Given the description of an element on the screen output the (x, y) to click on. 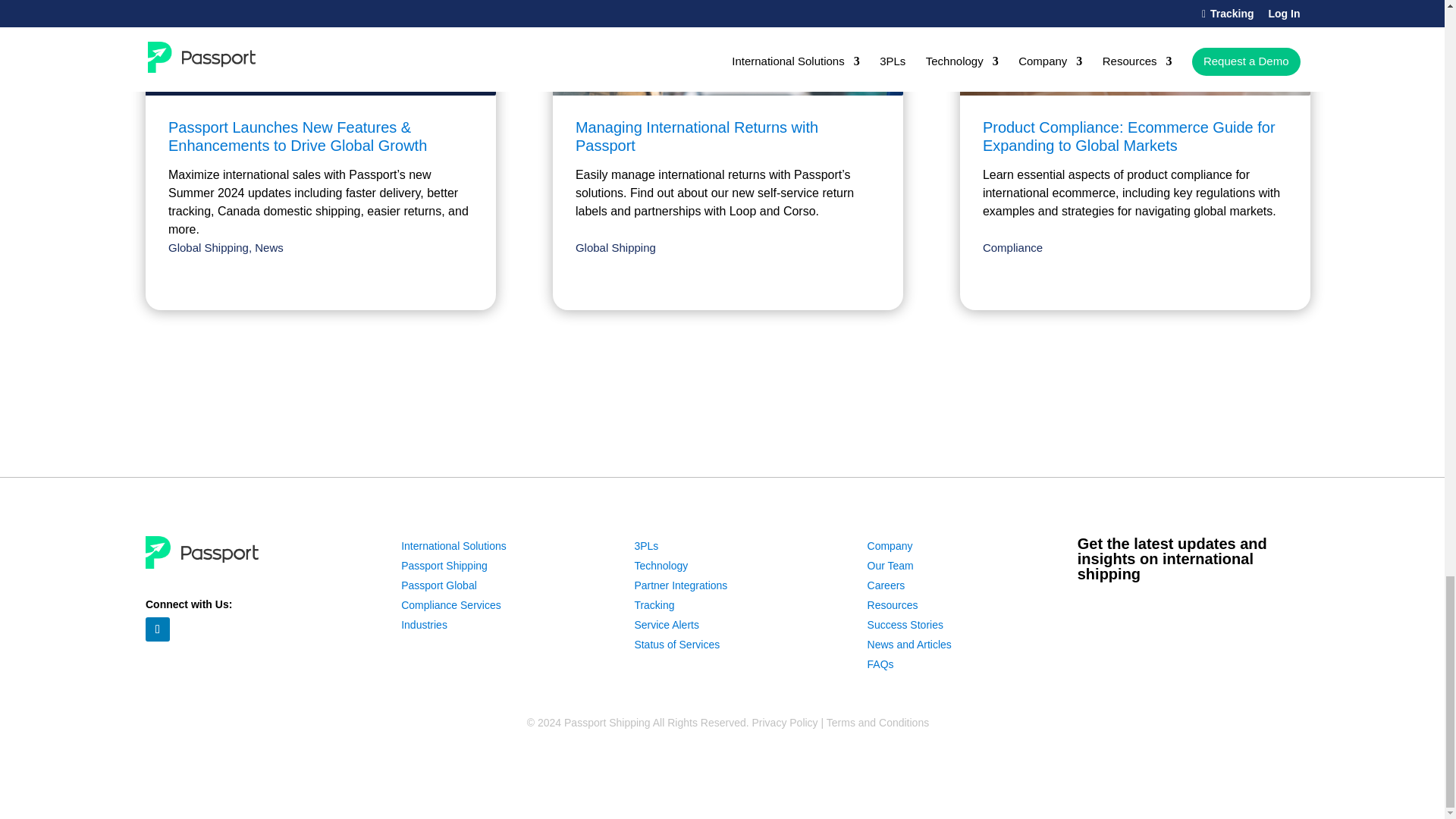
shipping experts (483, 259)
Schedule a discovery call (734, 753)
product classification (390, 24)
multi-carrier shipping software (481, 319)
customization (1063, 410)
proshipinc.com (505, 818)
international shipping (1029, 614)
